Given the description of an element on the screen output the (x, y) to click on. 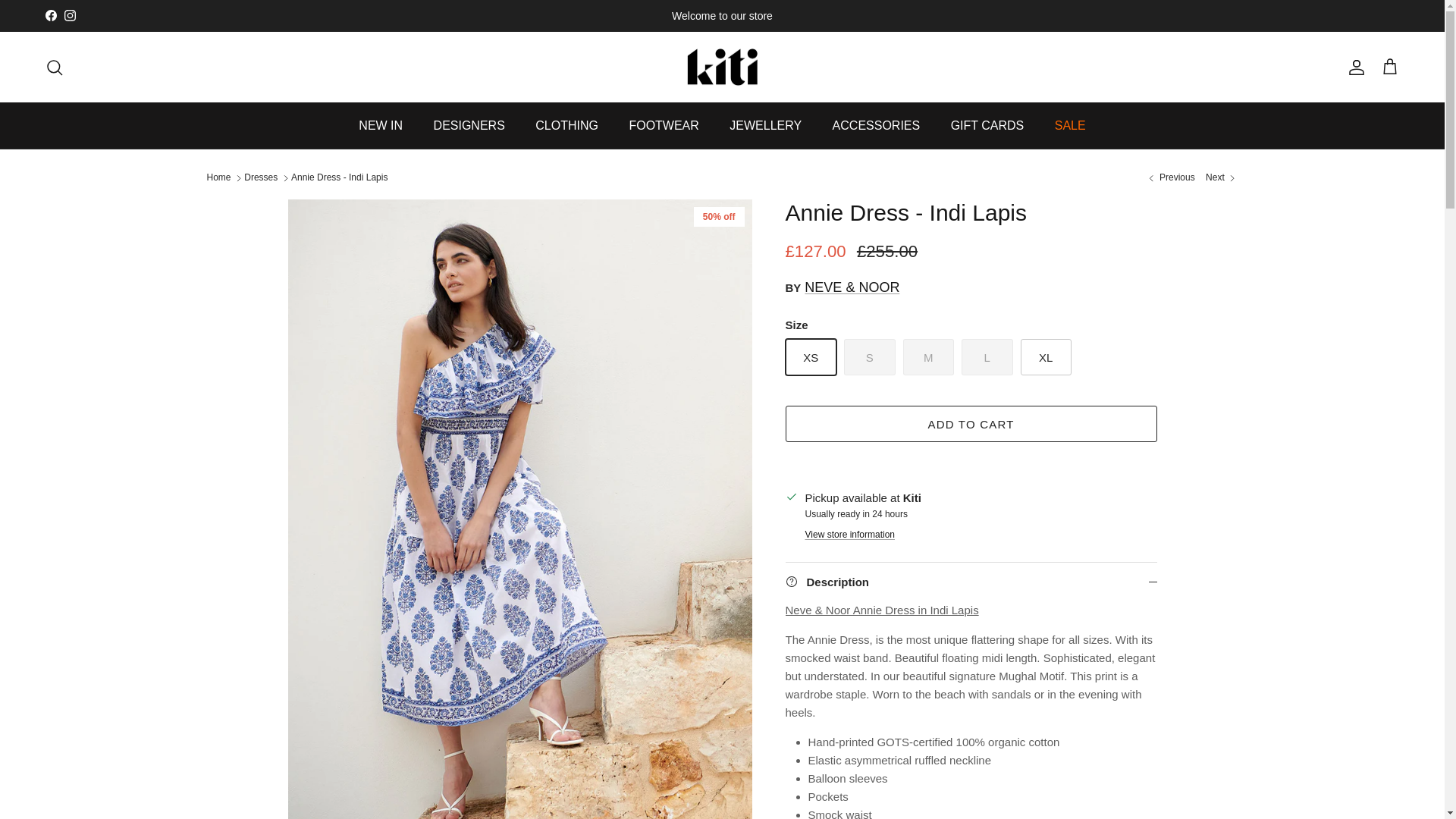
CLOTHING (566, 125)
Sold out (927, 357)
KitiCymru on Facebook (50, 15)
Account (1352, 67)
Sold out (869, 357)
KitiCymru (722, 66)
FOOTWEAR (662, 125)
Facebook (50, 15)
KitiCymru on Instagram (69, 15)
Leopard Pleated Flounce Smock Dress (1169, 177)
